Given the description of an element on the screen output the (x, y) to click on. 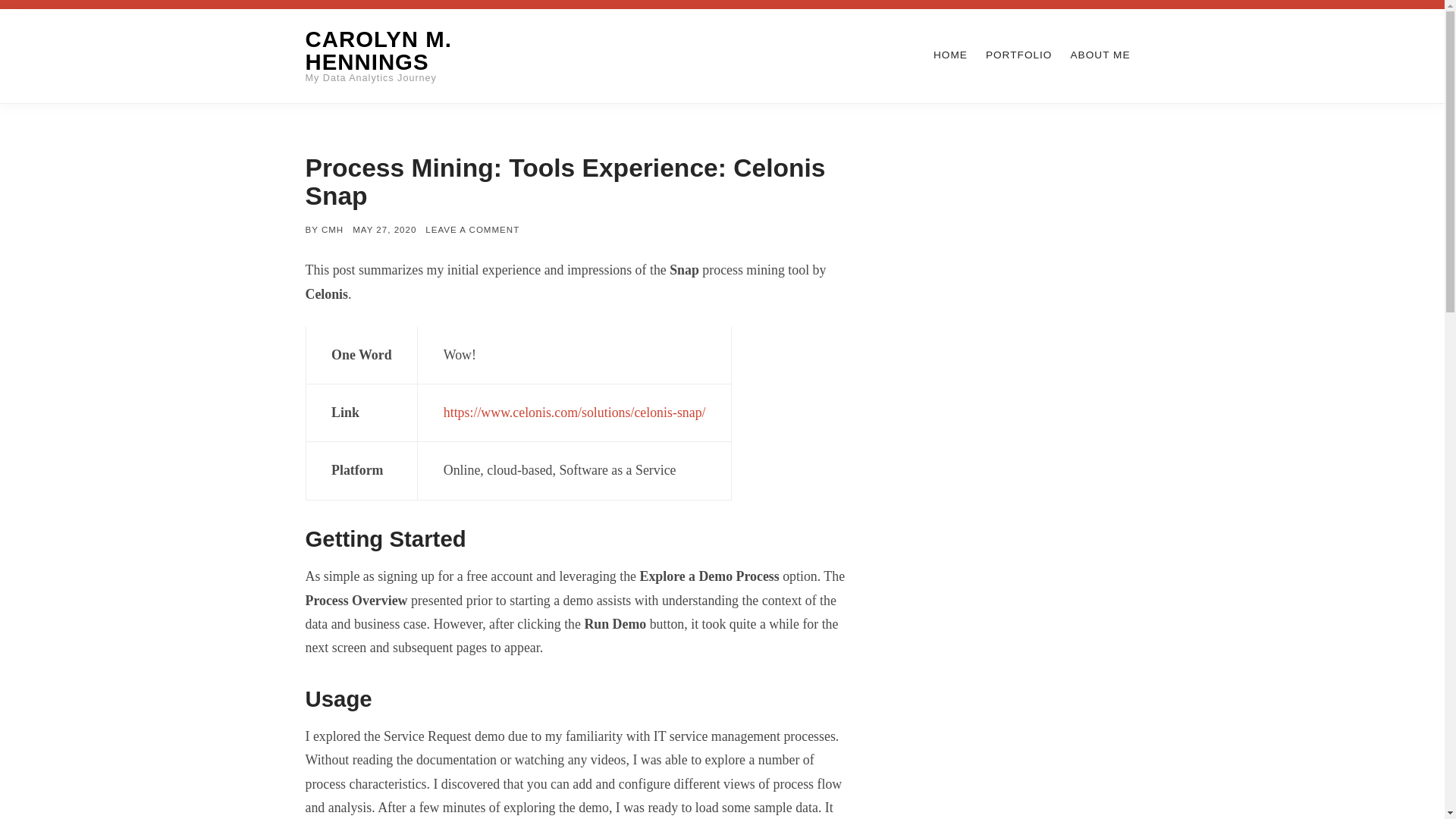
HOME (950, 55)
CMH (332, 229)
ABOUT ME (1099, 55)
CAROLYN M. HENNINGS (377, 49)
PORTFOLIO (1018, 55)
MAY 27, 2020 (384, 229)
